Given the description of an element on the screen output the (x, y) to click on. 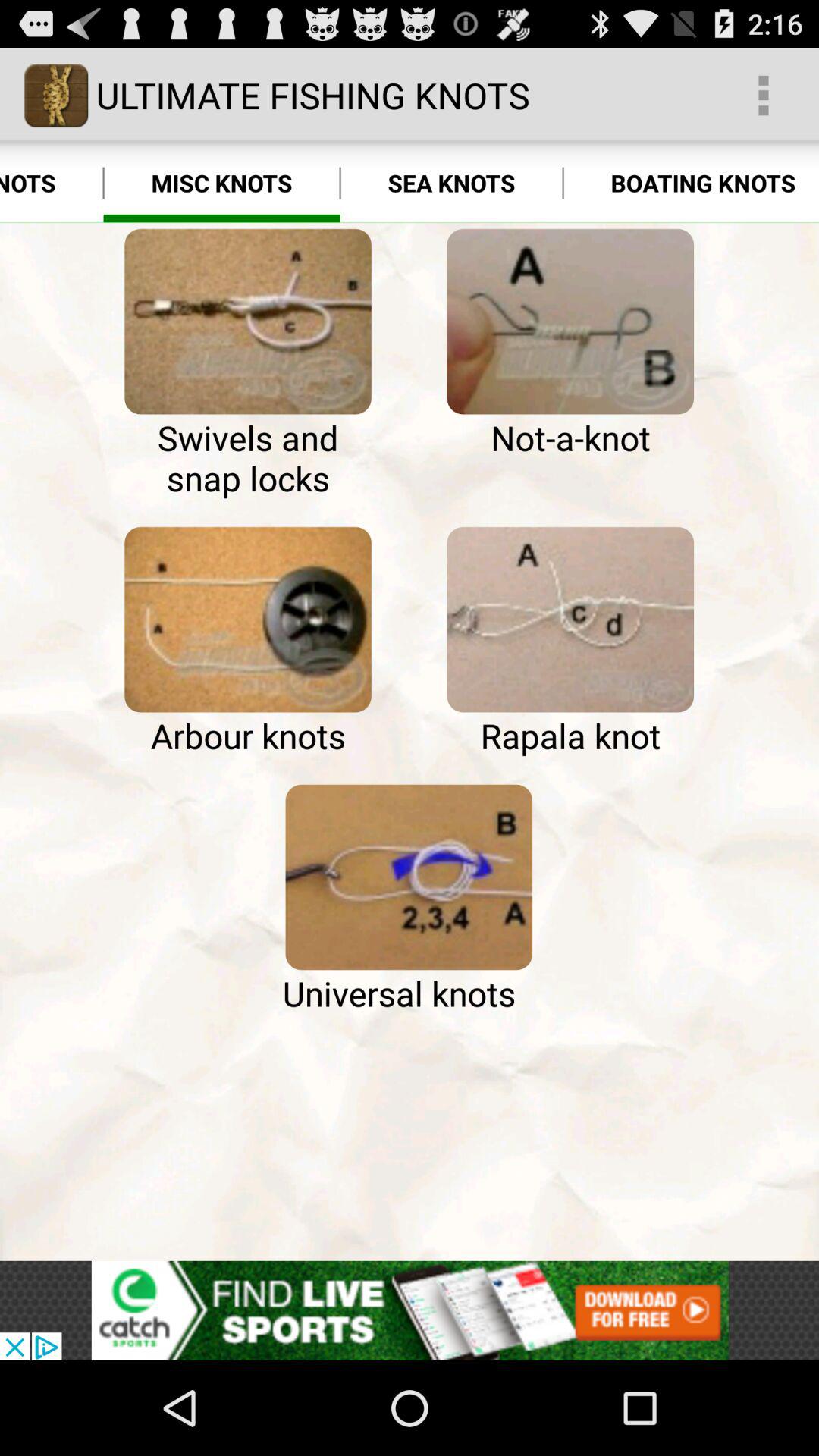
see how to tie that knot (247, 321)
